Given the description of an element on the screen output the (x, y) to click on. 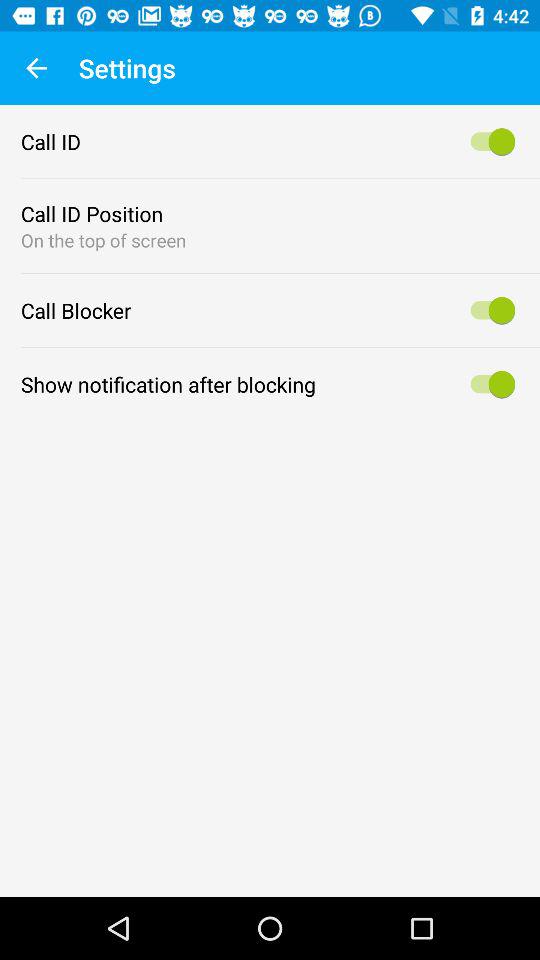
turn on caller id (489, 141)
